Given the description of an element on the screen output the (x, y) to click on. 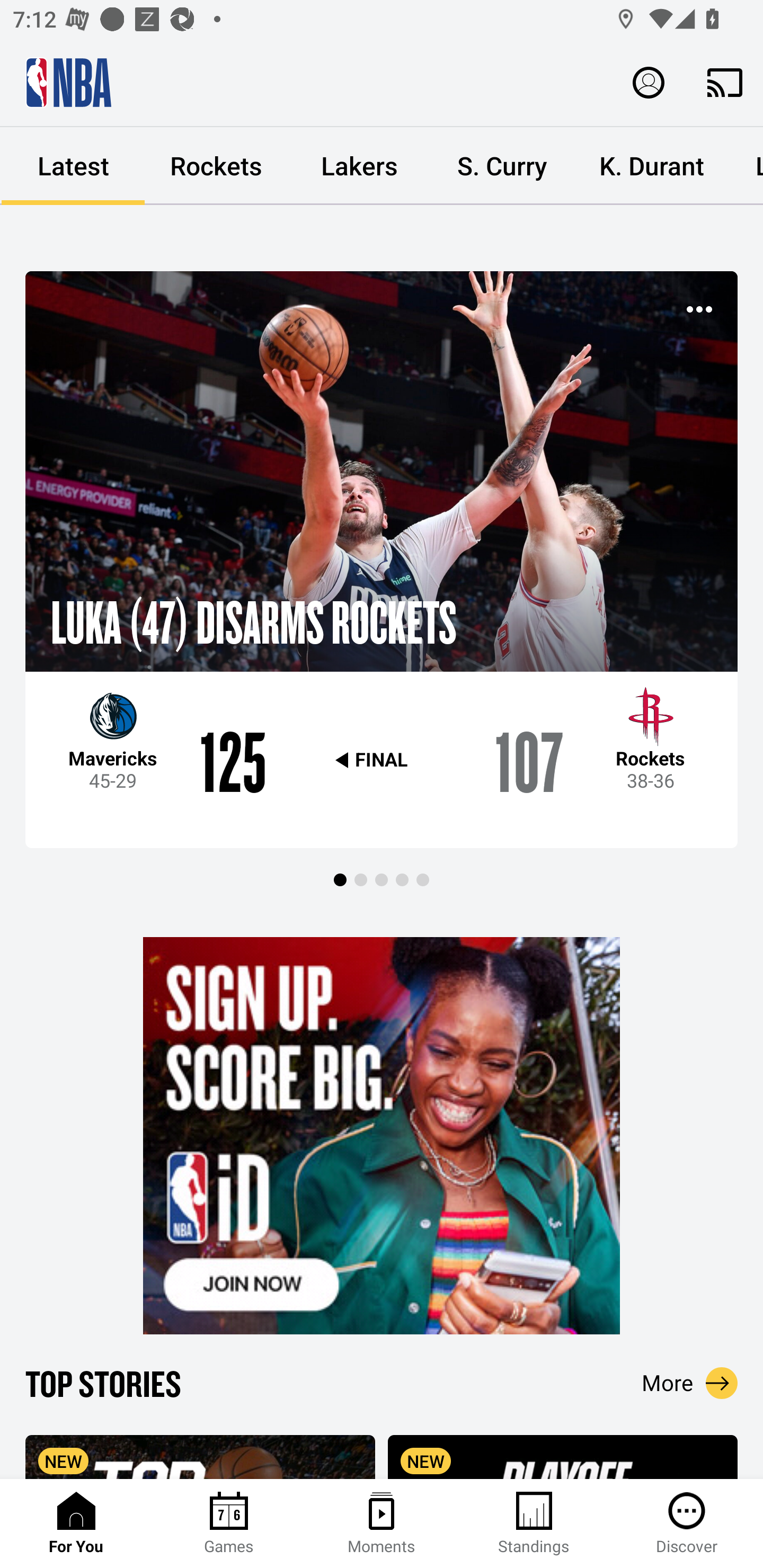
Cast. Disconnected (724, 82)
Profile (648, 81)
Rockets (215, 166)
Lakers (359, 166)
S. Curry (502, 166)
K. Durant (651, 166)
More (689, 1382)
Games (228, 1523)
Moments (381, 1523)
Standings (533, 1523)
Discover (686, 1523)
